Given the description of an element on the screen output the (x, y) to click on. 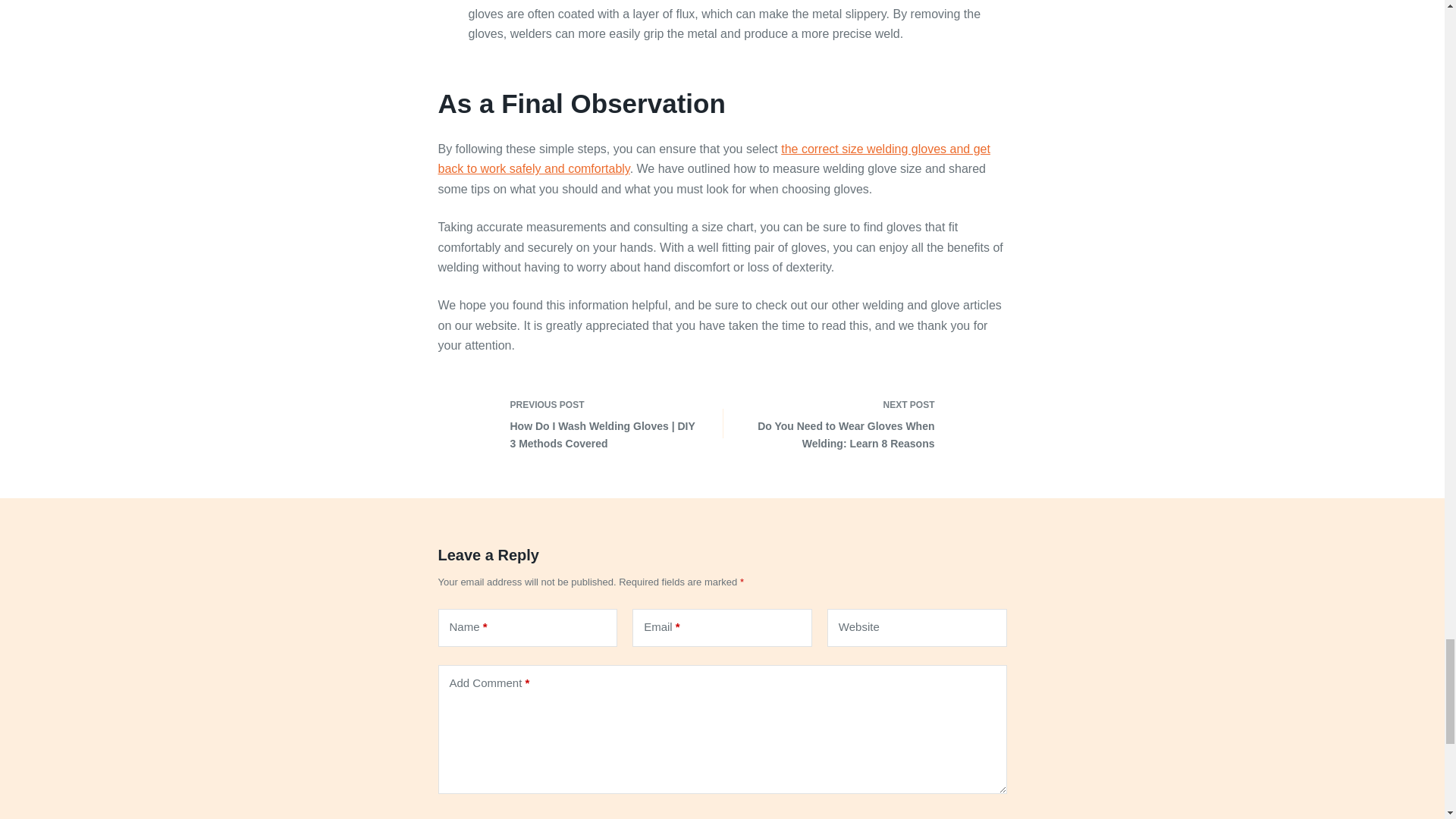
yes (443, 817)
